Given the description of an element on the screen output the (x, y) to click on. 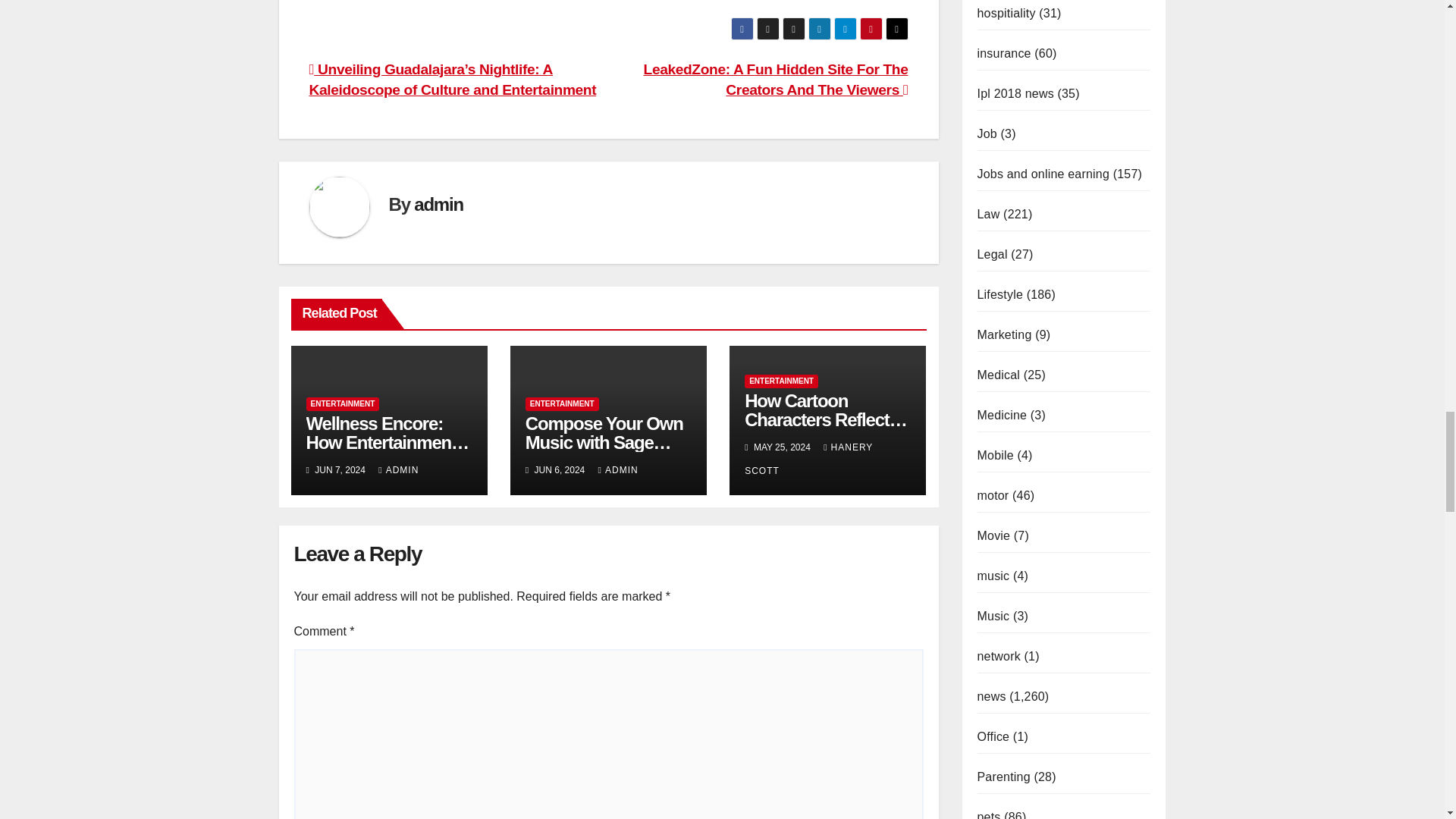
Wellness Encore: How Entertainment Can Enhance Your Health (387, 451)
Permalink to: Compose Your Own Music with Sage Music (603, 442)
ADMIN (398, 470)
ENTERTAINMENT (561, 404)
ENTERTAINMENT (342, 404)
admin (438, 204)
